Given the description of an element on the screen output the (x, y) to click on. 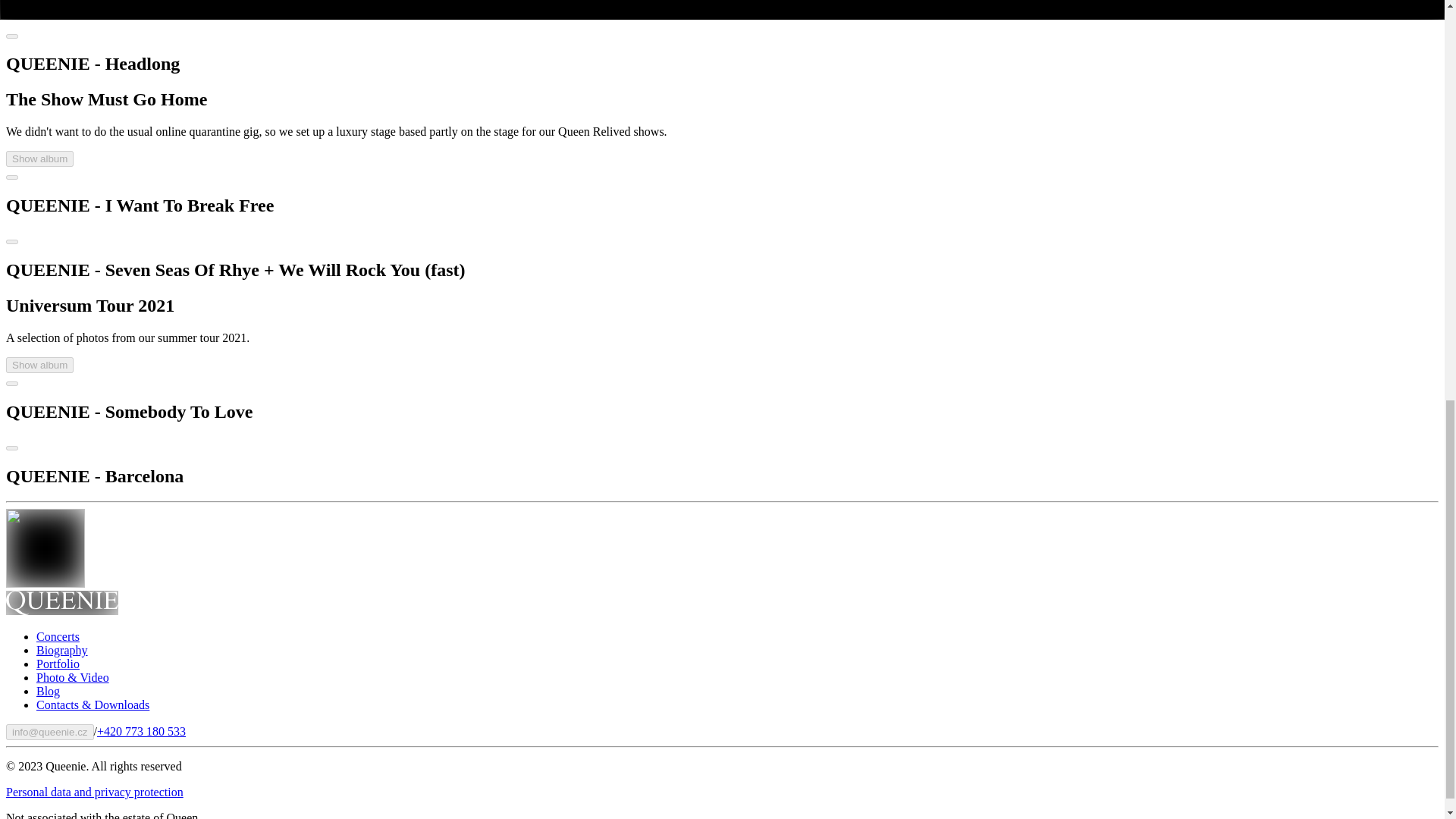
Biography (61, 649)
Show album (39, 365)
Concerts (58, 635)
Blog (47, 690)
Show album (39, 158)
Personal data and privacy protection (94, 791)
Portfolio (58, 663)
